Given the description of an element on the screen output the (x, y) to click on. 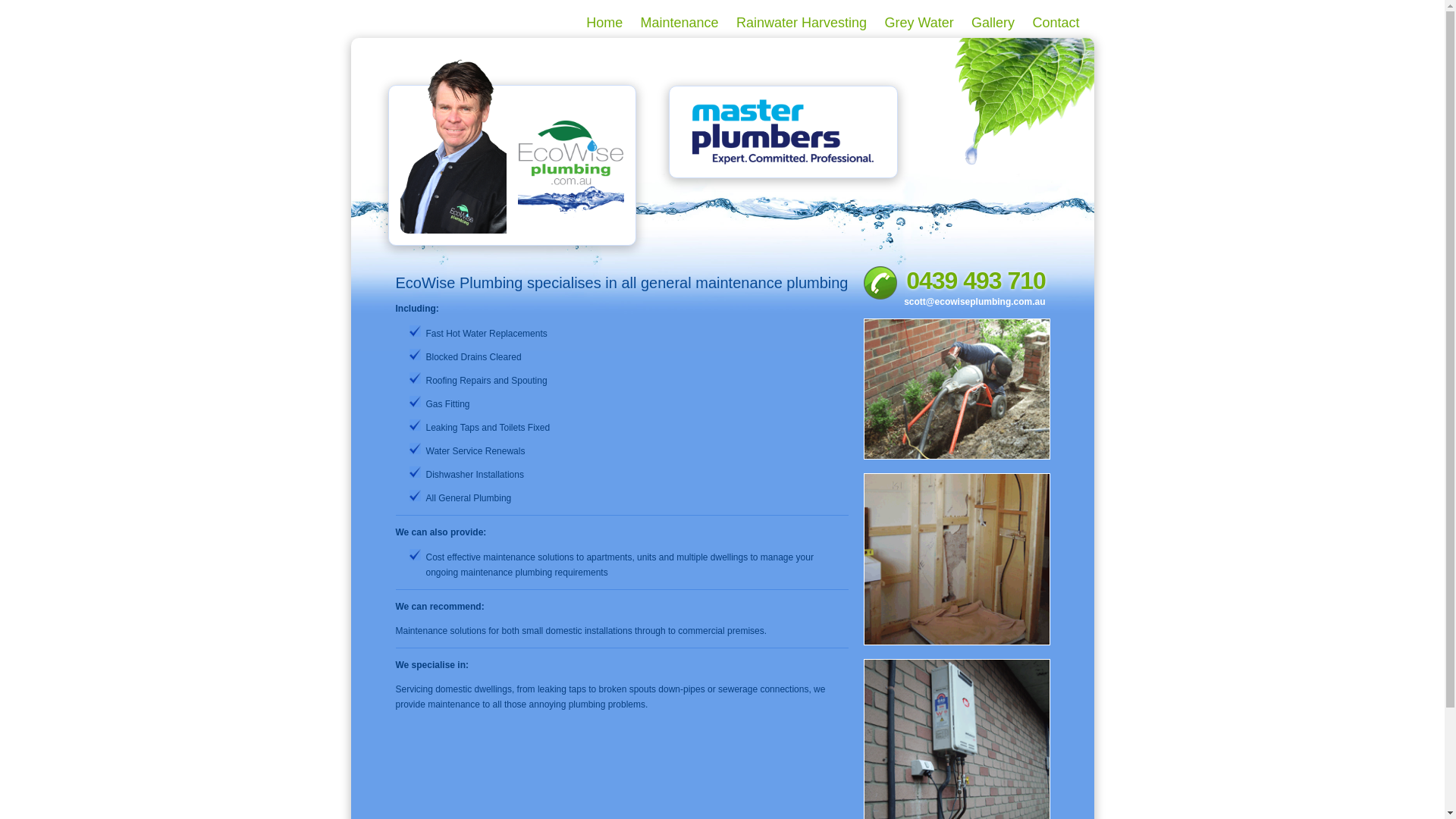
Rainwater Harvesting Element type: text (801, 22)
Gallery Element type: text (992, 22)
scott@ecowiseplumbing.com.au Element type: text (954, 301)
Ecowise Plumbing Element type: text (570, 167)
Grey Water Element type: text (918, 22)
Maintenance Element type: text (679, 22)
Home Element type: text (604, 22)
Contact Element type: text (1055, 22)
